Given the description of an element on the screen output the (x, y) to click on. 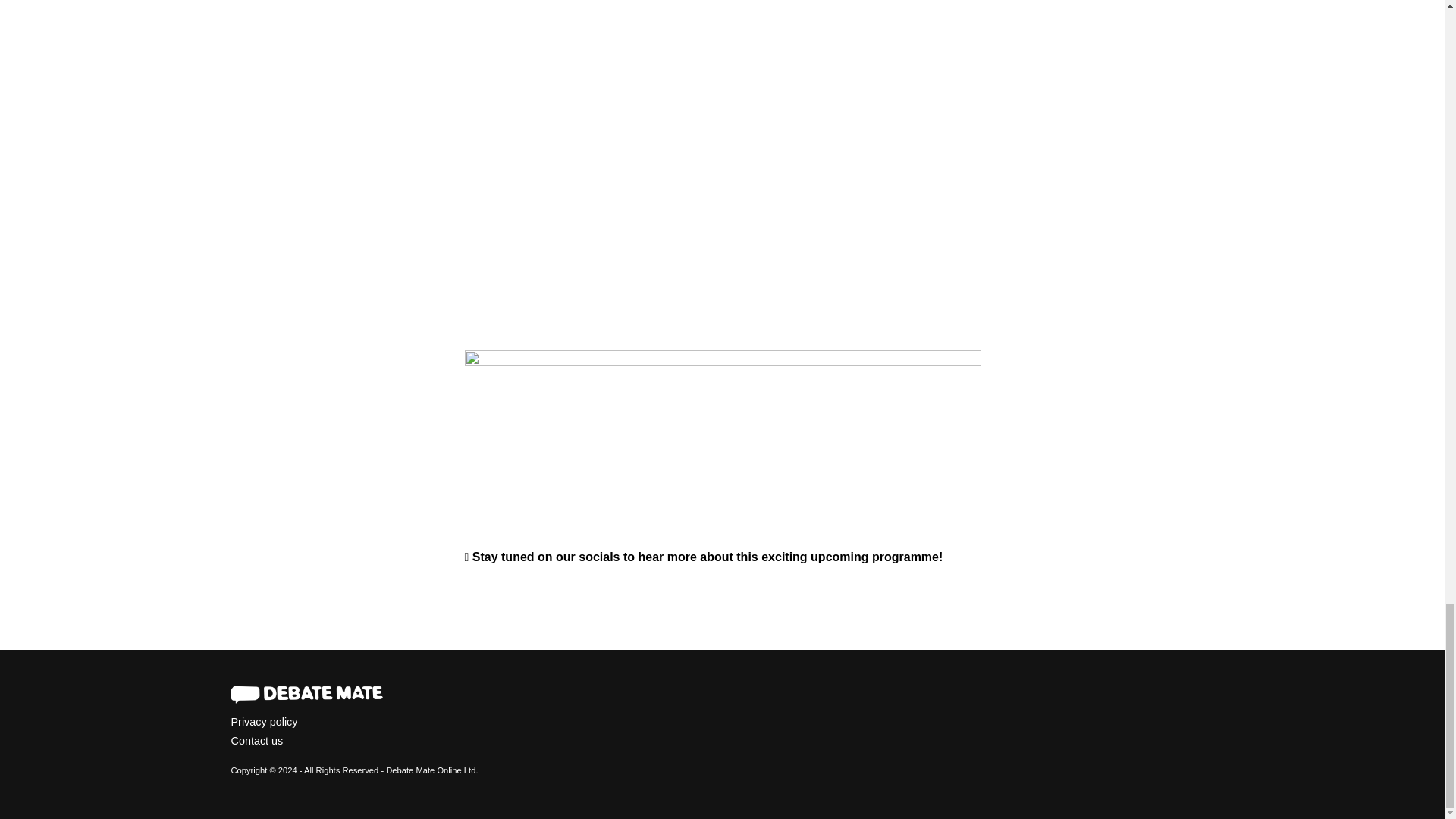
Contact us (721, 749)
Privacy policy (721, 718)
